Given the description of an element on the screen output the (x, y) to click on. 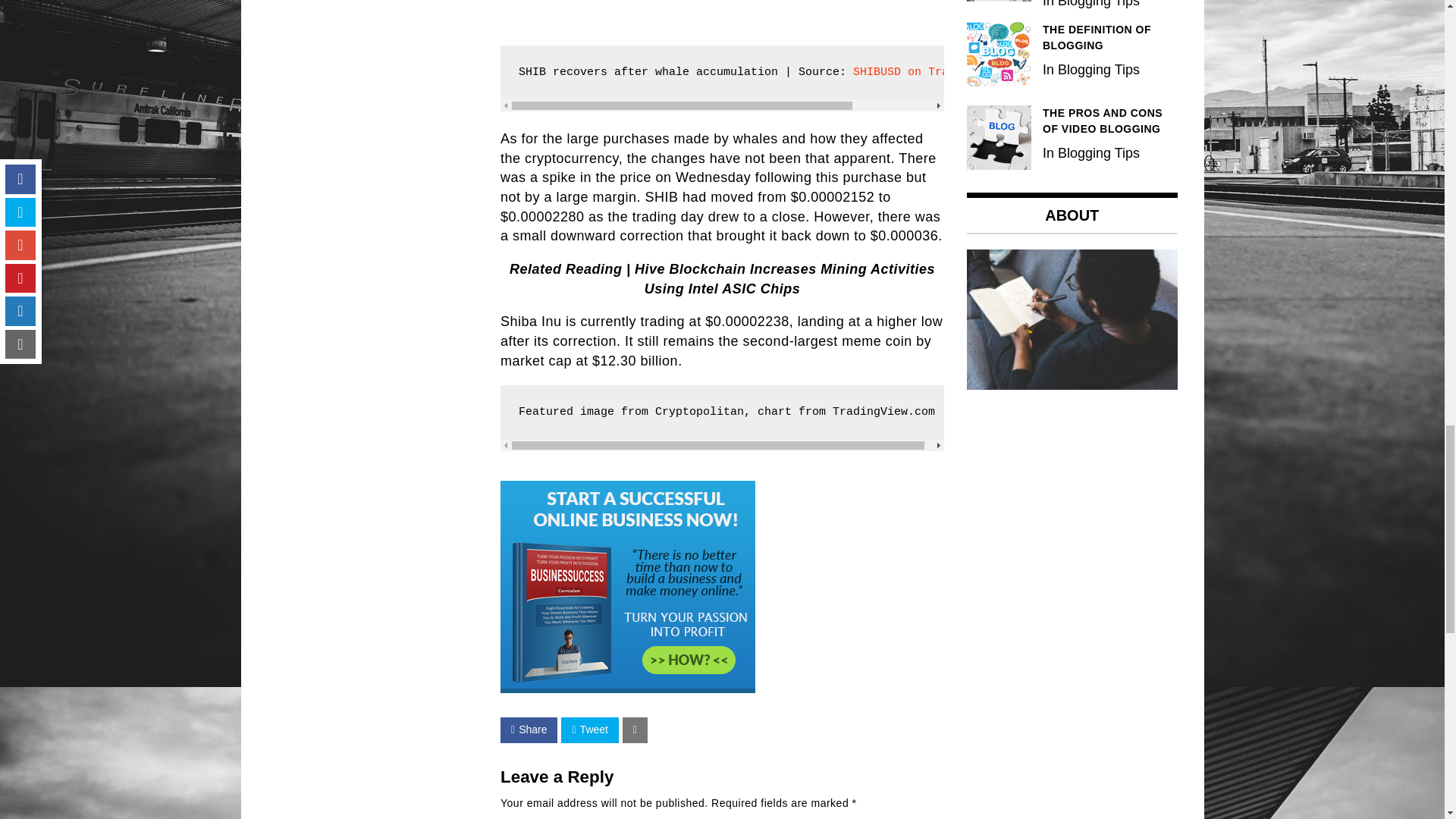
How to Start an Online Business (627, 688)
Tweet on Twitter (588, 729)
SHIBUSD on TradingView.com (941, 72)
How to Start an Online Business (627, 586)
Tweet (588, 729)
Share (528, 729)
Share On Facebook (528, 729)
